Given the description of an element on the screen output the (x, y) to click on. 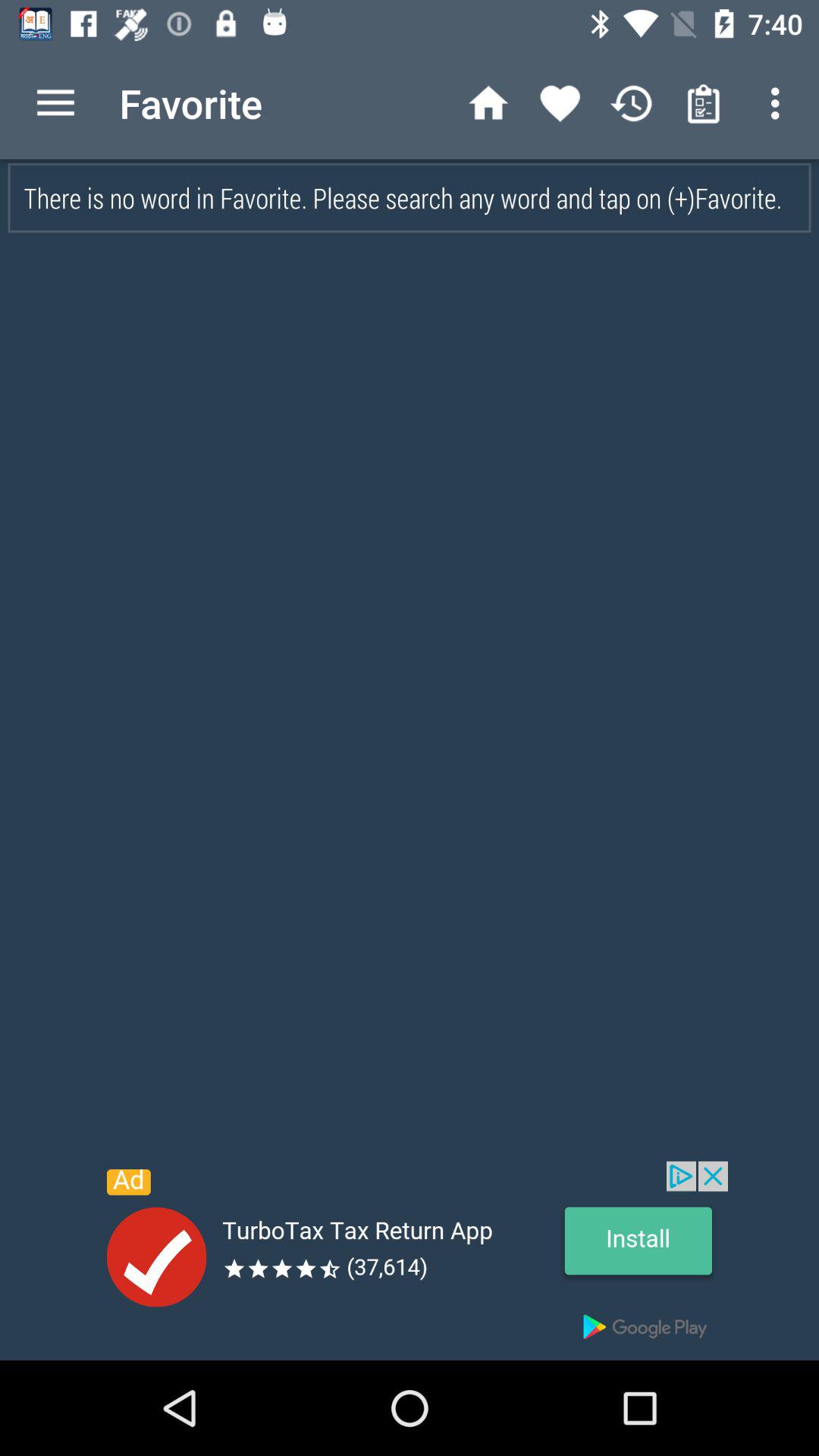
banner advertisement (409, 1260)
